Given the description of an element on the screen output the (x, y) to click on. 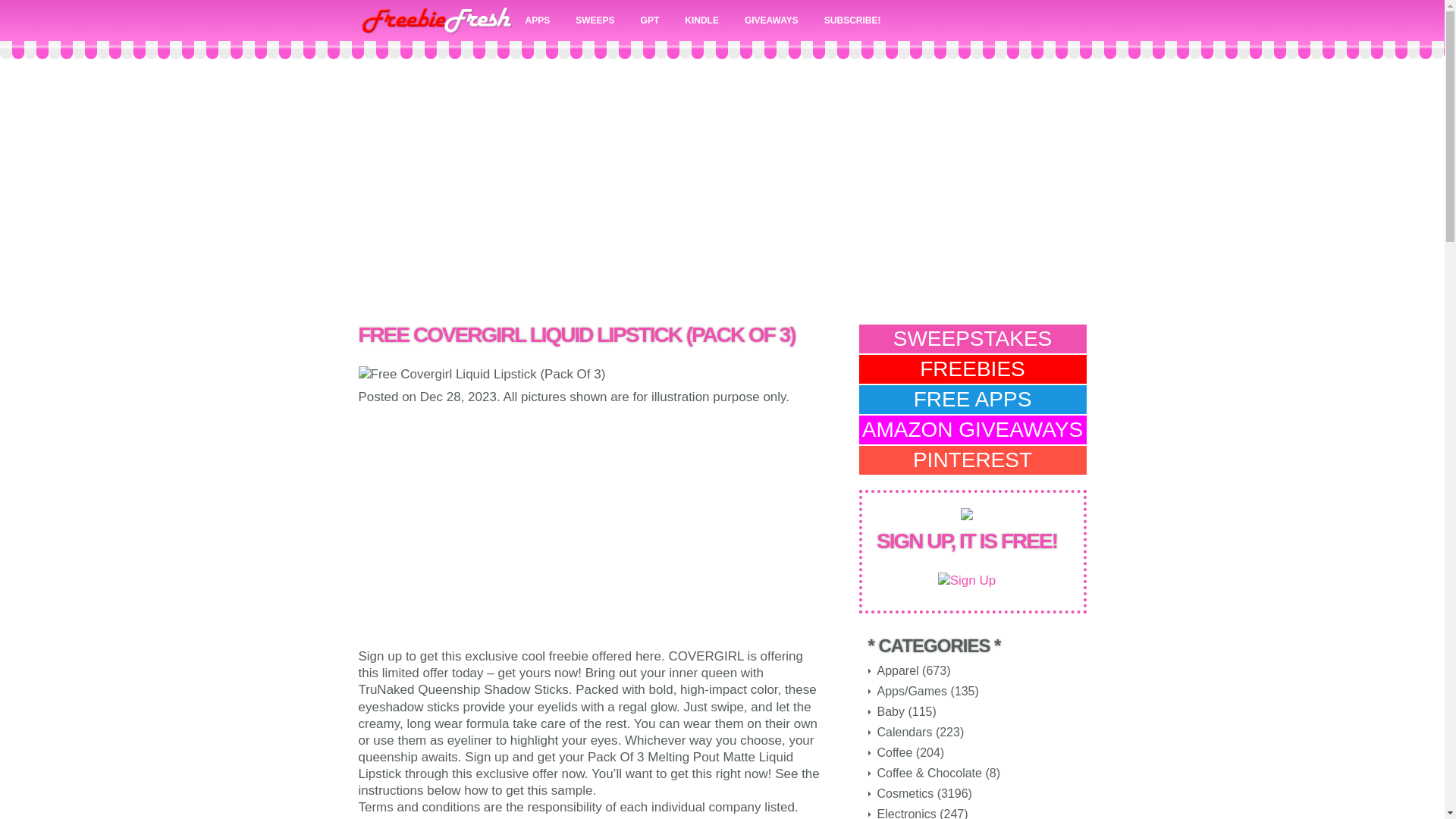
Free Apps (537, 20)
Advertisement (589, 526)
View all posts in Calendars (903, 731)
Sweepstakes, Giveways And Other Marketing (594, 20)
FREEBIES (972, 369)
FREE APPS (972, 399)
View all posts in Apparel (897, 670)
SUBSCRIBE! (851, 20)
KINDLE (701, 20)
GIVEAWAYS (771, 20)
AMAZON GIVEAWAYS (972, 429)
GPT (649, 20)
Subscribe To Freebiefresh's Daily Newsletter! (851, 20)
SWEEPS (594, 20)
View all posts in Coffee (894, 752)
